Given the description of an element on the screen output the (x, y) to click on. 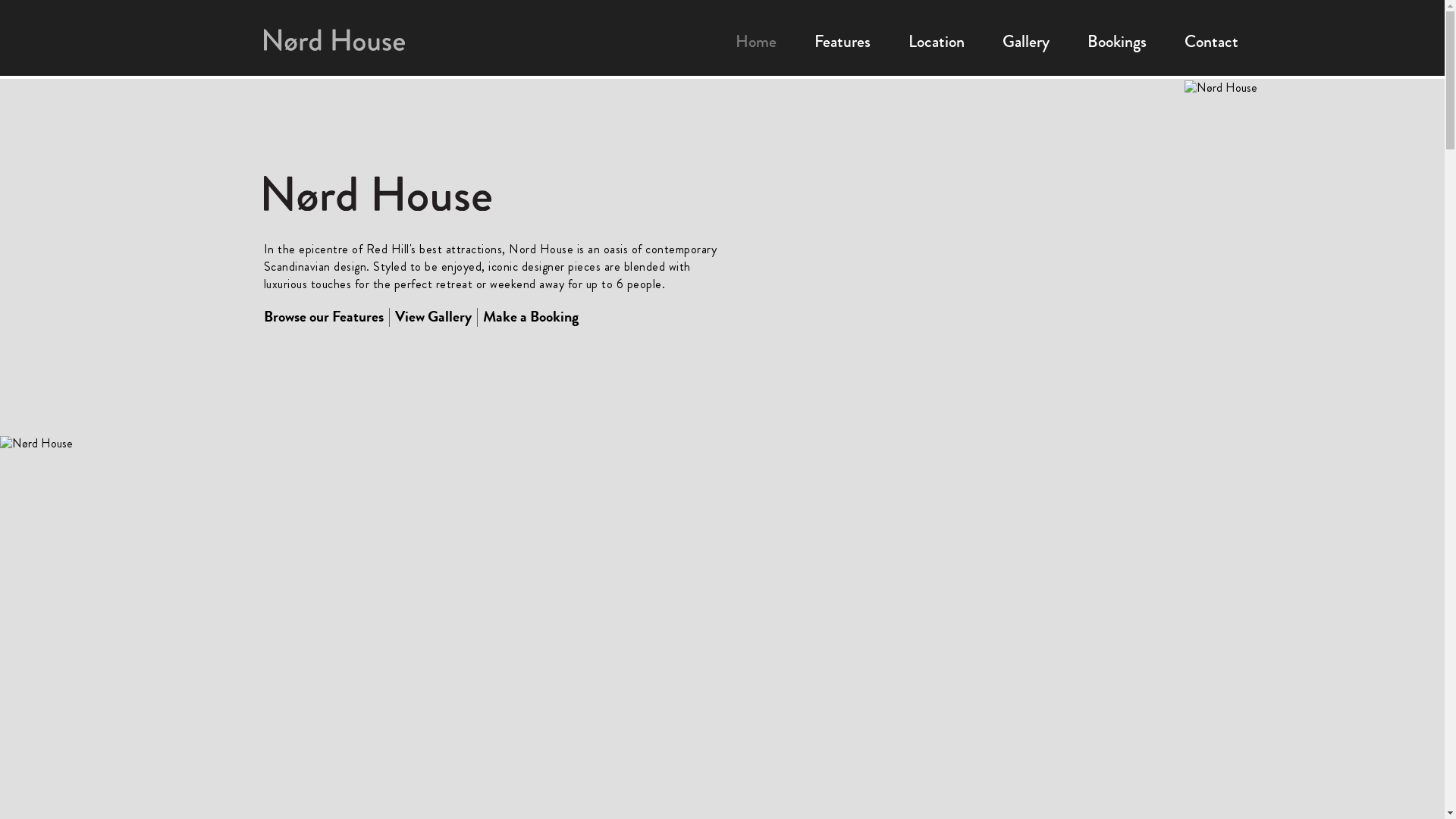
Make a Booking Element type: text (529, 316)
Bookings Element type: text (1116, 41)
Gallery Element type: text (1025, 41)
View Gallery Element type: text (432, 316)
Browse our Features Element type: text (323, 316)
Location Element type: text (936, 41)
Contact Element type: text (1211, 41)
Home Element type: text (755, 41)
Features Element type: text (842, 41)
